Given the description of an element on the screen output the (x, y) to click on. 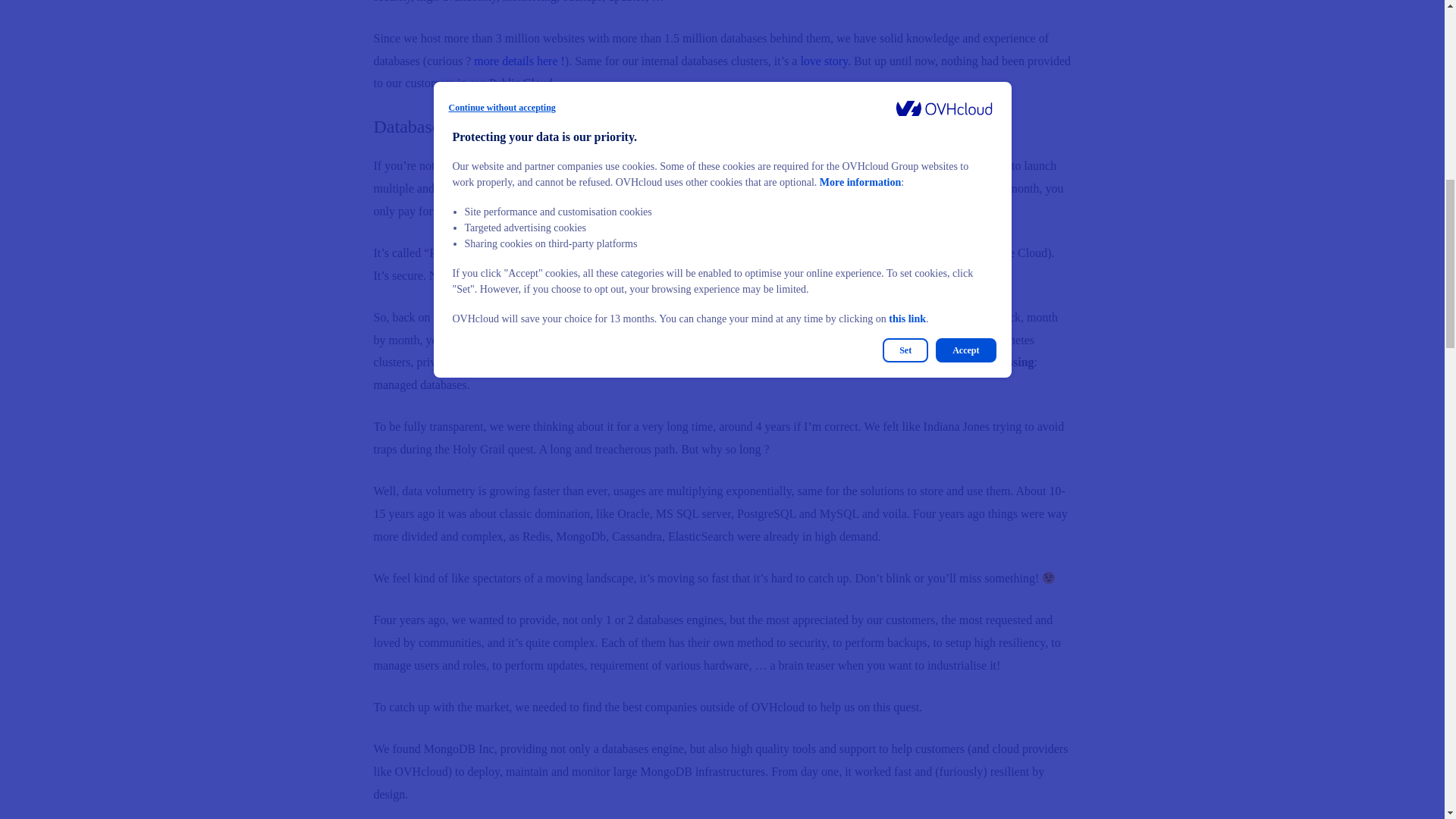
more details here ! (519, 60)
love story (823, 60)
